Given the description of an element on the screen output the (x, y) to click on. 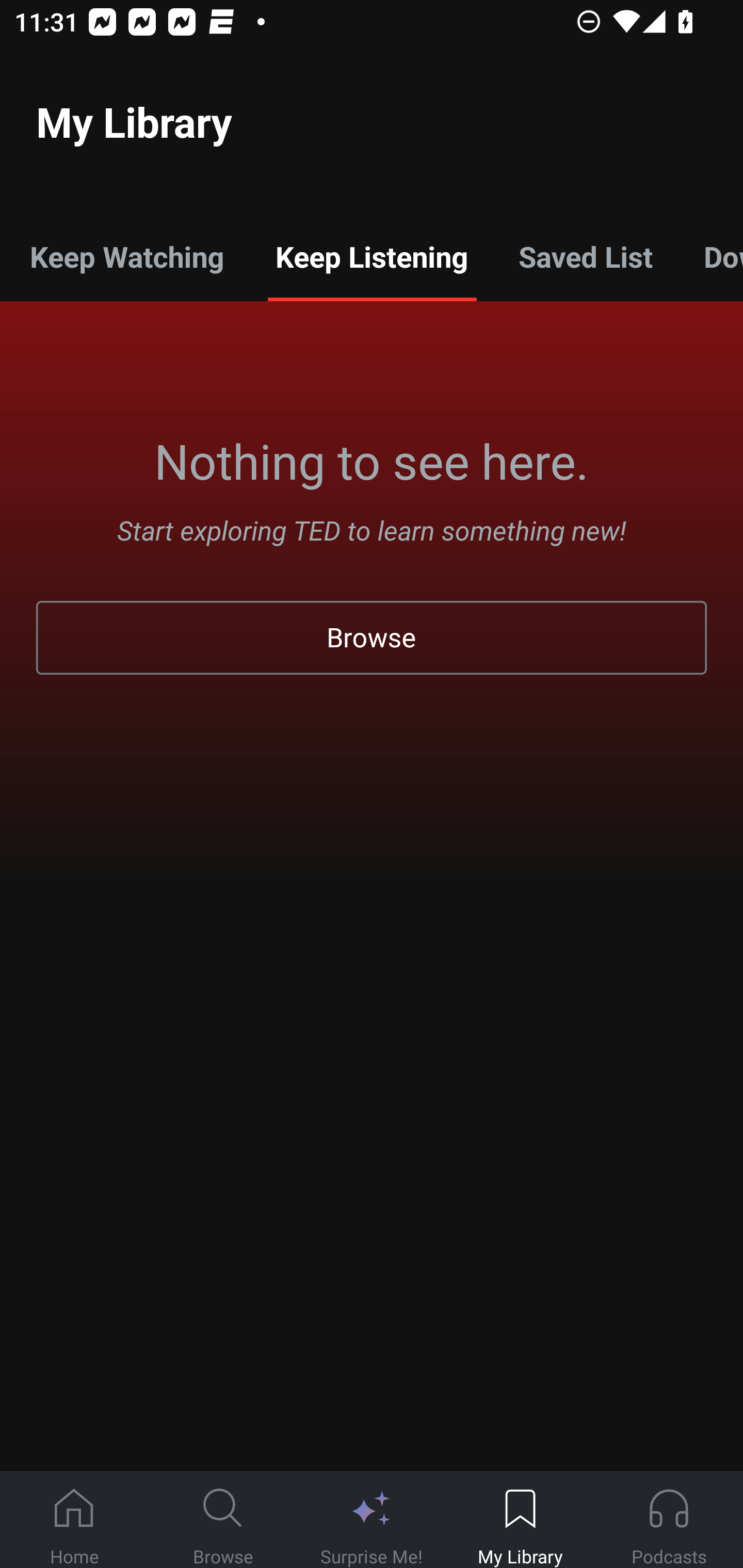
Keep Watching (126, 256)
Keep Listening (371, 256)
Saved List (585, 256)
Browse (371, 637)
Home (74, 1520)
Browse (222, 1520)
Surprise Me! (371, 1520)
My Library (519, 1520)
Podcasts (668, 1520)
